Given the description of an element on the screen output the (x, y) to click on. 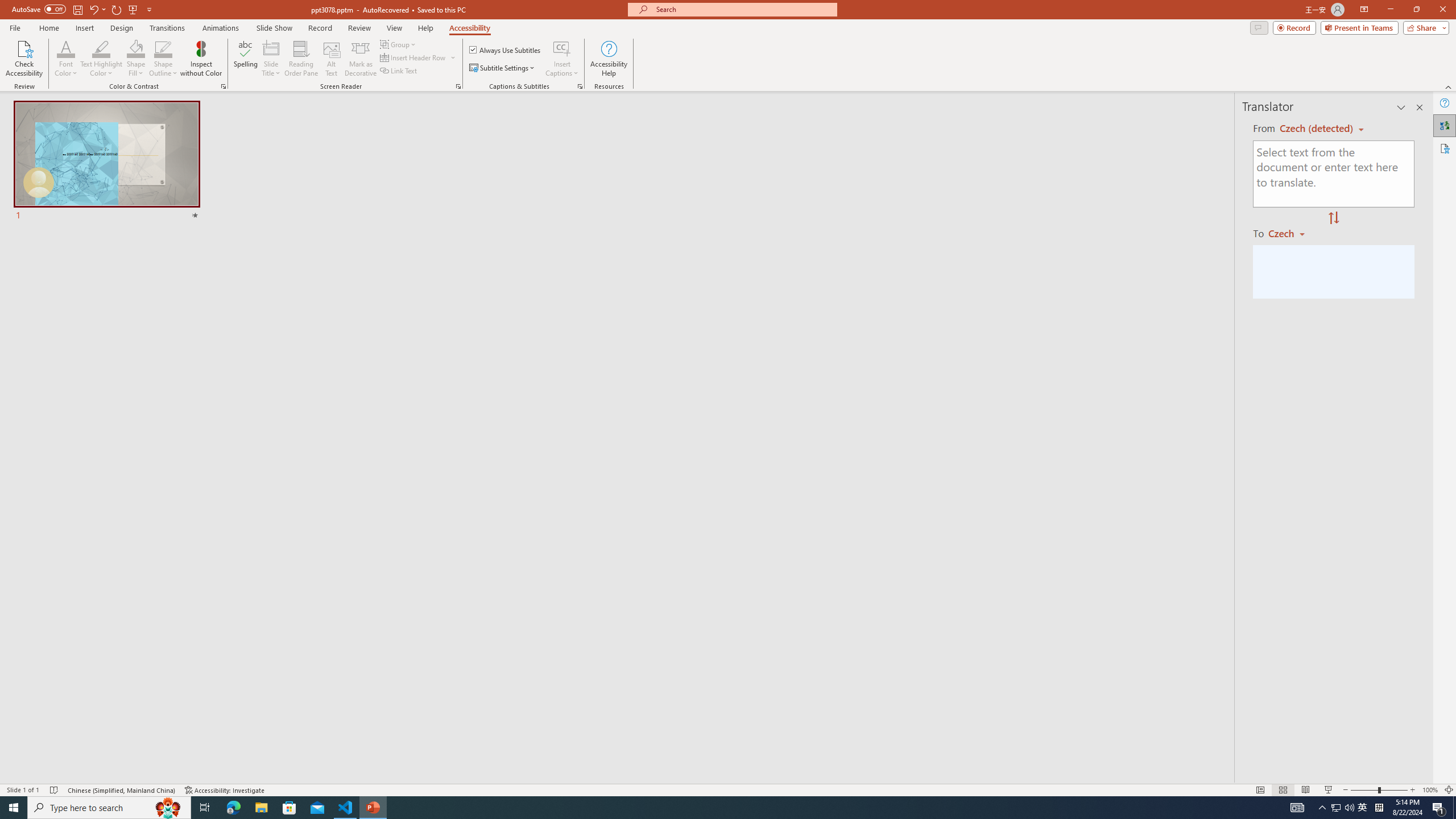
Captions & Subtitles (580, 85)
Always Use Subtitles (505, 49)
Zoom 100% (1430, 790)
Subtitle Settings (502, 67)
